Given the description of an element on the screen output the (x, y) to click on. 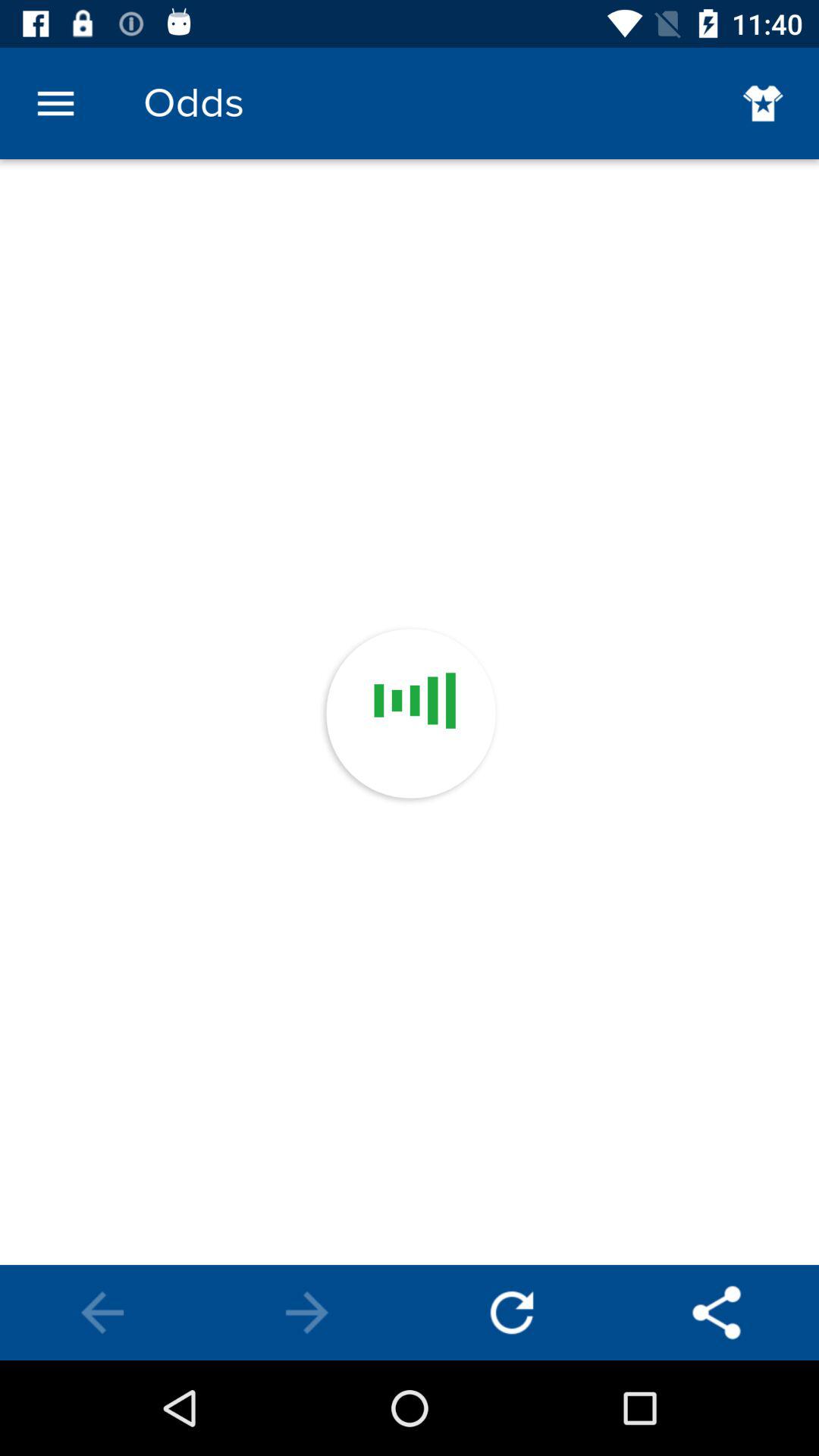
share button (716, 1312)
